Given the description of an element on the screen output the (x, y) to click on. 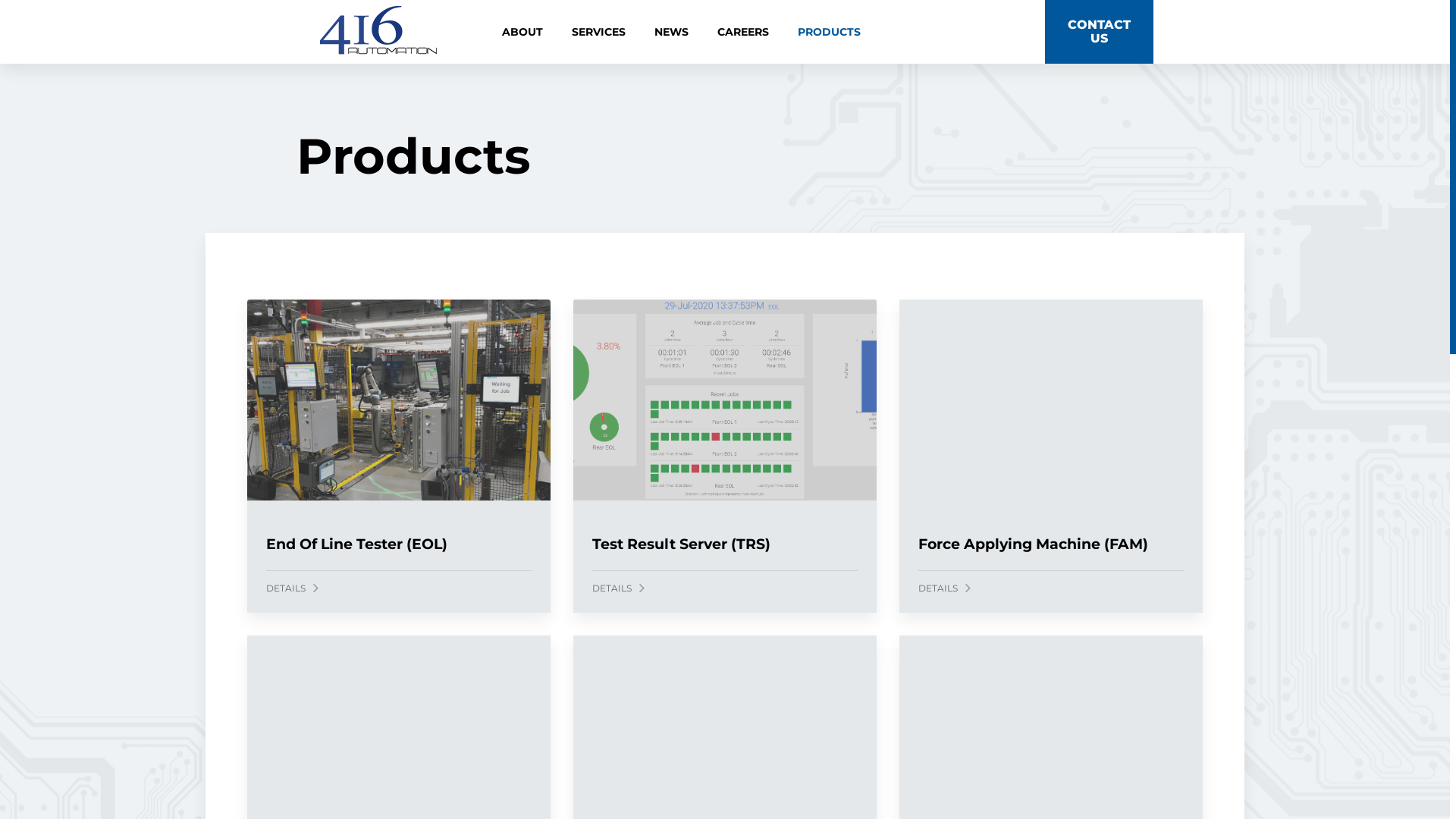
ABOUT Element type: text (412, 634)
End Of Line Tester (EOL) Element type: text (356, 543)
SERVICES Element type: text (598, 31)
ABOUT Element type: text (522, 31)
CAREERS Element type: text (742, 31)
SERVICES Element type: text (530, 634)
NEWS Element type: text (671, 31)
DETAILS Element type: text (292, 586)
CONTACT US Element type: text (1098, 31)
DETAILS Element type: text (618, 586)
PRODUCTS Element type: text (828, 31)
CAREERS Element type: text (760, 634)
DETAILS Element type: text (944, 586)
PRODUCTS Element type: text (890, 634)
NEWS Element type: text (646, 634)
Test Result Server (TRS) Element type: text (681, 543)
LOG IN Element type: text (1025, 635)
Force Applying Machine (FAM) Element type: text (1033, 543)
